Given the description of an element on the screen output the (x, y) to click on. 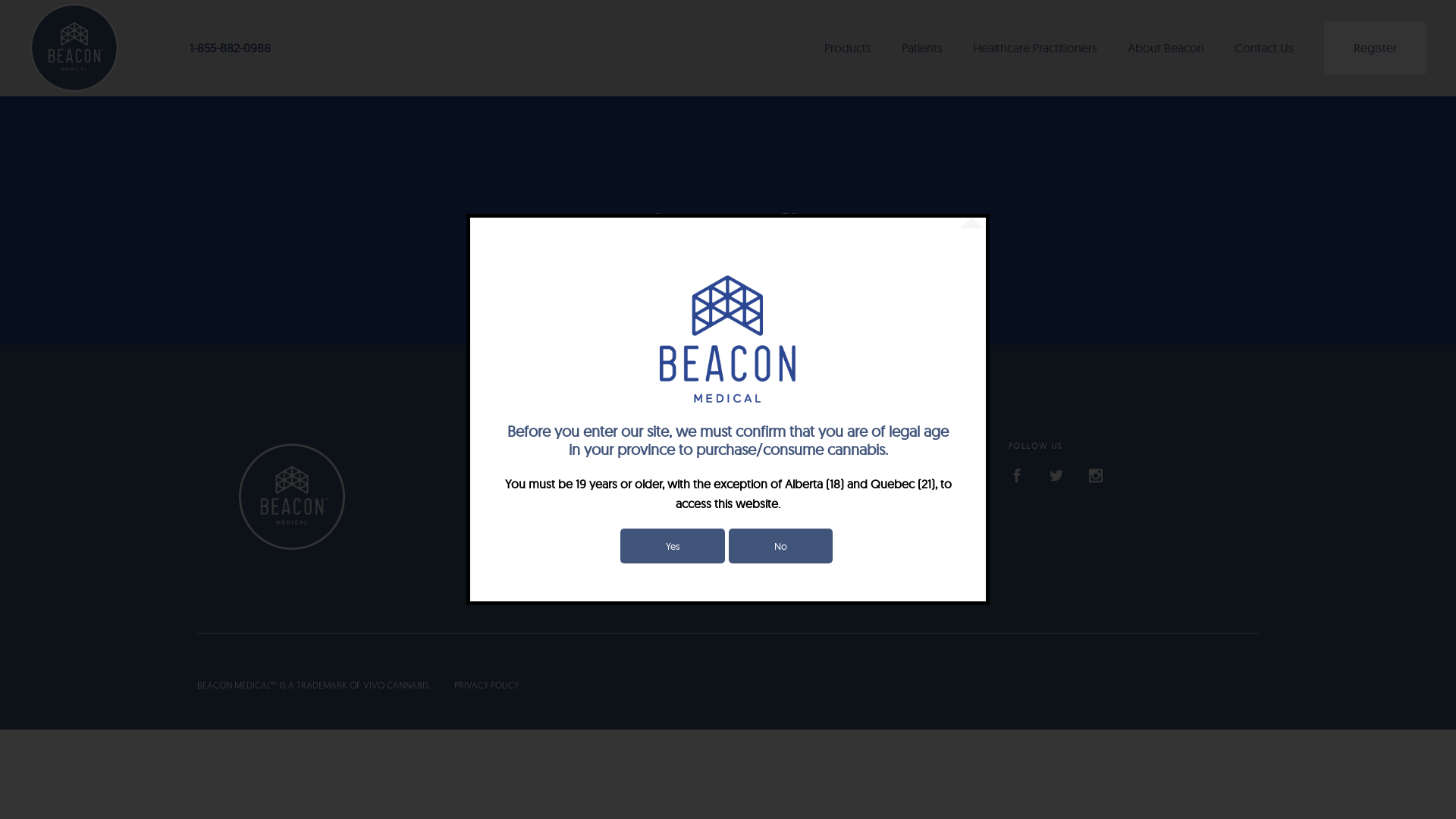
1 855-882-0988 Element type: text (782, 472)
Register Element type: text (1375, 47)
Contact Us Element type: text (1263, 47)
Close Element type: hover (971, 223)
Yes Element type: text (672, 545)
REGISTRATION FORM Element type: text (604, 473)
MEDICAL DOCUMENT Element type: text (604, 492)
Products Element type: text (847, 47)
PRIVACY POLICY Element type: text (474, 684)
CARE@VIVOCANNABIS.COM Element type: text (811, 532)
Patients Element type: text (921, 47)
No Element type: text (779, 545)
About Beacon Element type: text (1165, 47)
Healthcare Practitioners Element type: text (1034, 47)
